Given the description of an element on the screen output the (x, y) to click on. 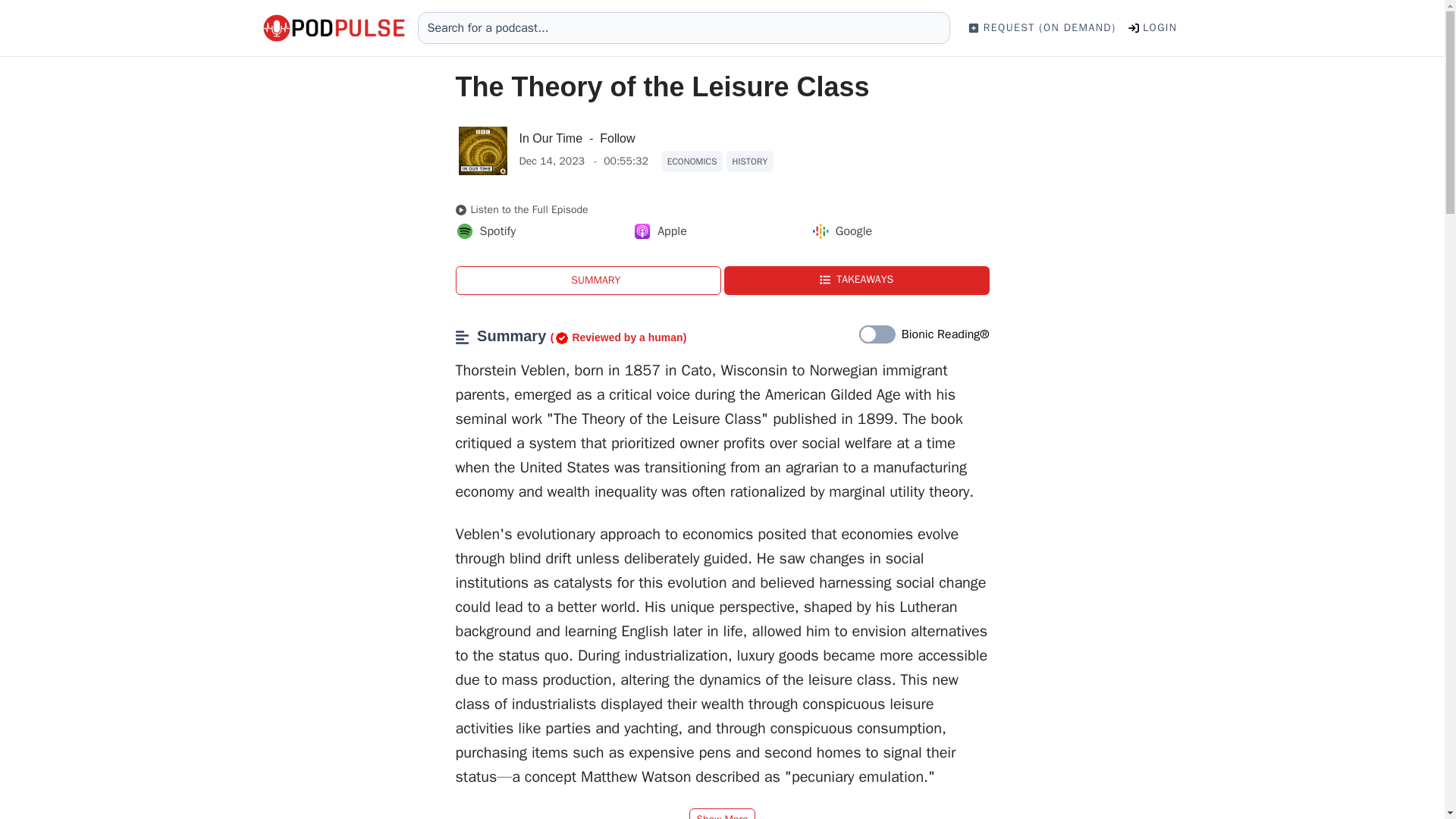
Show More (721, 813)
on (877, 334)
 SUMMARY (587, 280)
Follow (616, 138)
In Our Time (550, 137)
Spotify (484, 230)
LOGIN (1152, 27)
Apple (660, 230)
 TAKEAWAYS (855, 280)
HISTORY (750, 160)
Google (841, 230)
ECONOMICS (692, 160)
